Given the description of an element on the screen output the (x, y) to click on. 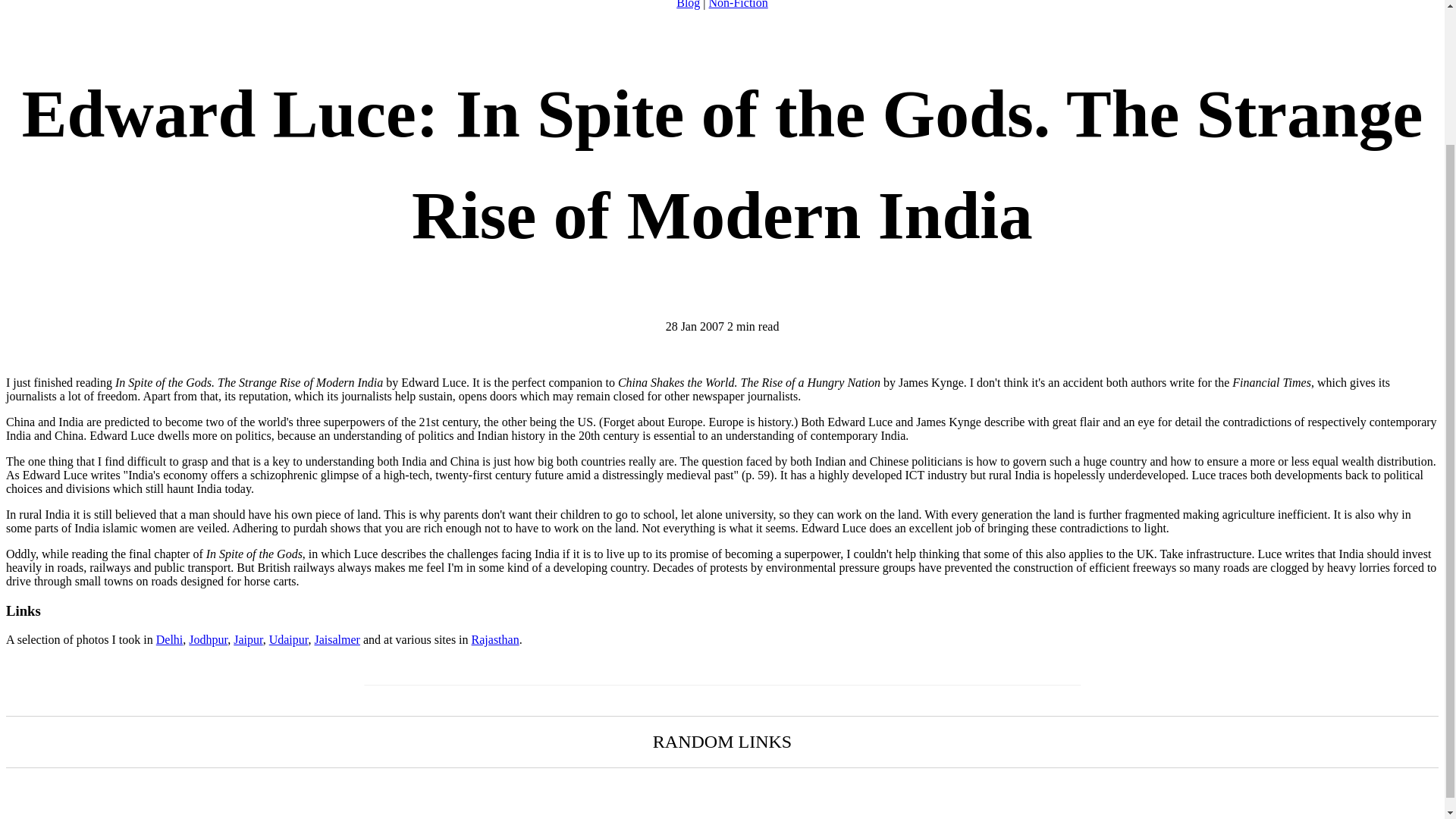
Udaipur (288, 639)
Blog (688, 4)
Jodhpur (208, 639)
Non-Fiction (738, 4)
Rajasthan (495, 639)
Jaisalmer (336, 639)
Jaipur (247, 639)
Delhi (169, 639)
